Given the description of an element on the screen output the (x, y) to click on. 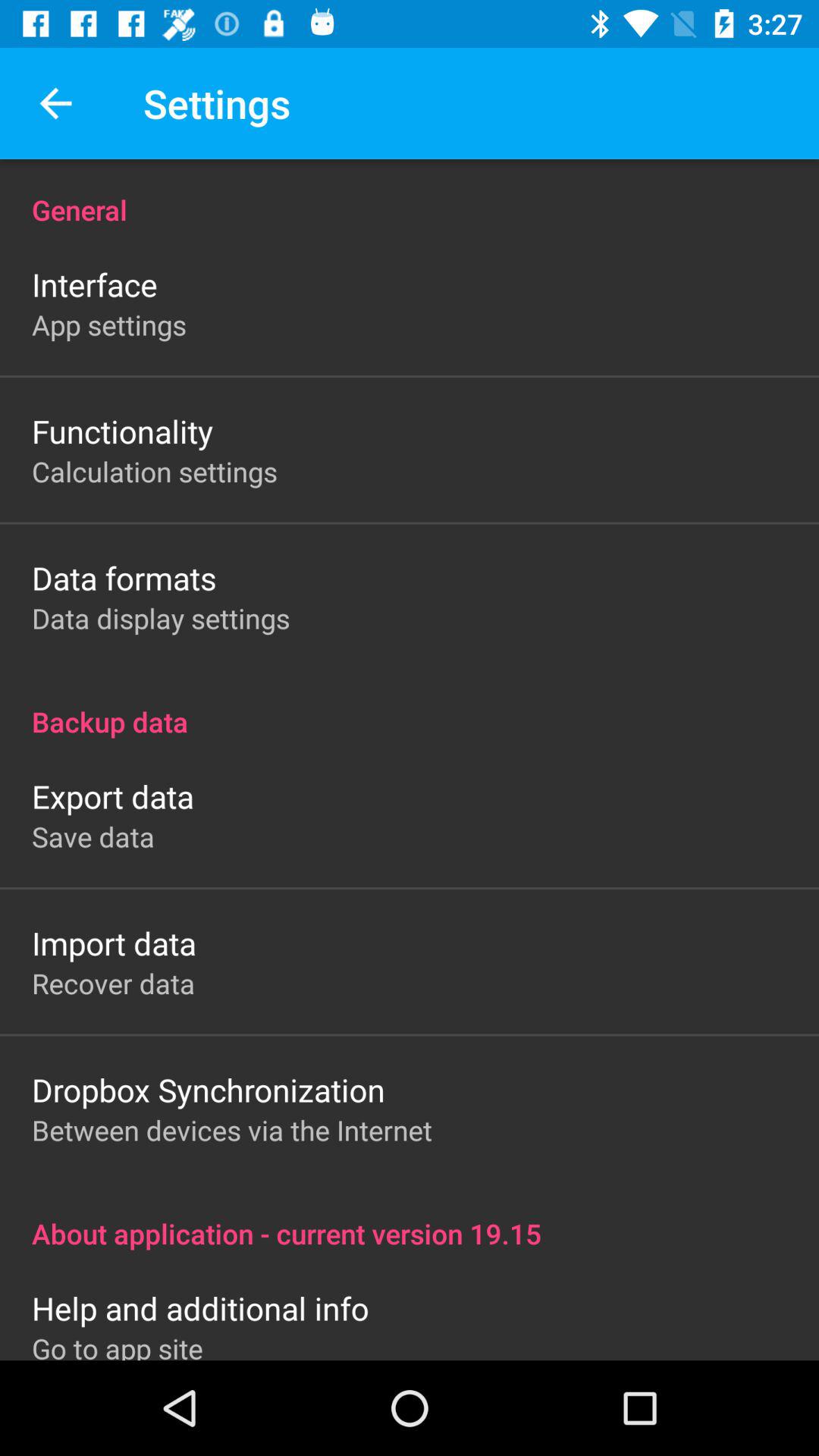
scroll to help and additional item (200, 1307)
